Given the description of an element on the screen output the (x, y) to click on. 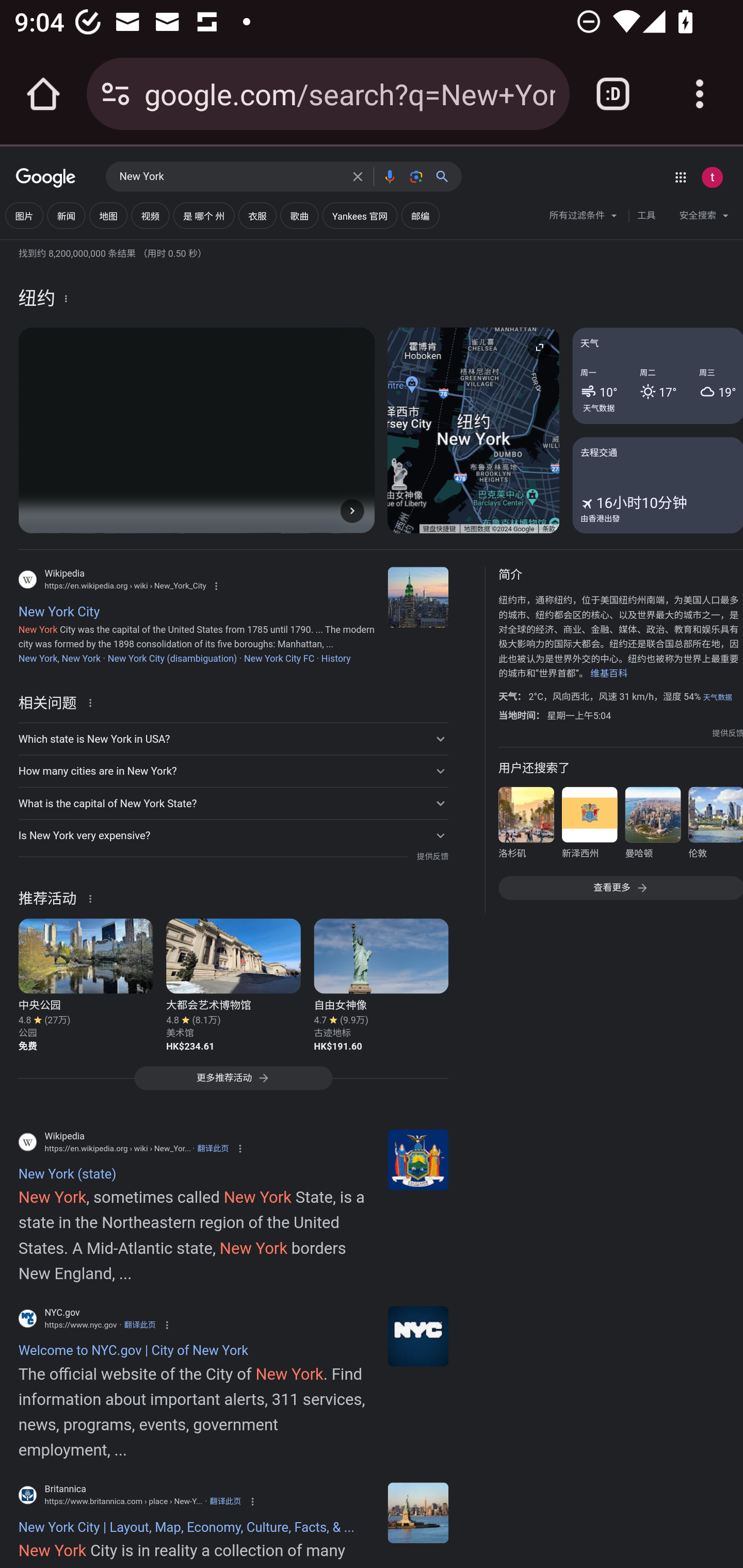
Open the home page (43, 93)
Connection is secure (115, 93)
Switch or close tabs (612, 93)
Customize and control Google Chrome (699, 93)
清除 (357, 176)
按语音搜索 (389, 176)
按图搜索 (415, 176)
搜索 (446, 176)
Google 应用 (680, 176)
Google 账号： test appium (testappium002@gmail.com) (712, 176)
Google (45, 178)
New York (229, 177)
图片 (24, 215)
新闻 (65, 215)
地图 (107, 215)
视频 (149, 215)
添加“是 哪个 州” 是 哪个 州 (203, 215)
添加“衣服” 衣服 (256, 215)
添加“歌曲” 歌曲 (299, 215)
添加“Yankees 官网” Yankees 官网 (359, 215)
添加“邮编” 邮编 (420, 215)
所有过滤条件 (583, 217)
工具 (646, 215)
安全搜索 (703, 217)
更多选项 (65, 298)
天气 周一 高温 10 度 周二 高温 17 度 周三 高温 19 度 (657, 375)
展开地图 (539, 346)
天气数据 (599, 407)
去程交通 16小时10分钟 乘坐飞机 由香港出發 (657, 484)
下一张图片 (352, 510)
New_York_City (417, 597)
New York, New York (58, 658)
New York City (disambiguation) (171, 658)
New York City FC (278, 658)
History (335, 658)
维基百科 (608, 672)
天气数据 (717, 697)
关于这条结果的详细信息 (93, 701)
Which state is New York in USA? (232, 738)
提供反馈 (727, 733)
How many cities are in New York? (232, 770)
洛杉矶 (526, 826)
新泽西州 (588, 826)
曼哈顿 (652, 826)
伦敦 (715, 826)
What is the capital of New York State? (232, 803)
Is New York very expensive? (232, 835)
提供反馈 (432, 856)
查看更多 查看更多 查看更多 (620, 887)
关于这条结果的详细信息 (93, 897)
更多推荐活动 (232, 1082)
New_York_(state) (417, 1159)
翻译此页 (212, 1148)
www.nyc (417, 1336)
翻译此页 (140, 1324)
New-York-City (417, 1511)
翻译此页 (225, 1501)
